Given the description of an element on the screen output the (x, y) to click on. 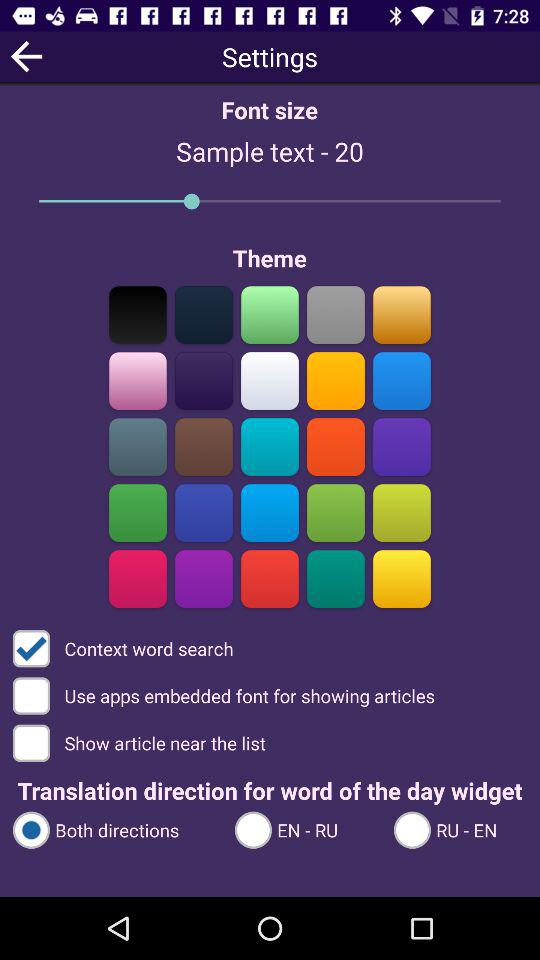
select this colour option (203, 380)
